Given the description of an element on the screen output the (x, y) to click on. 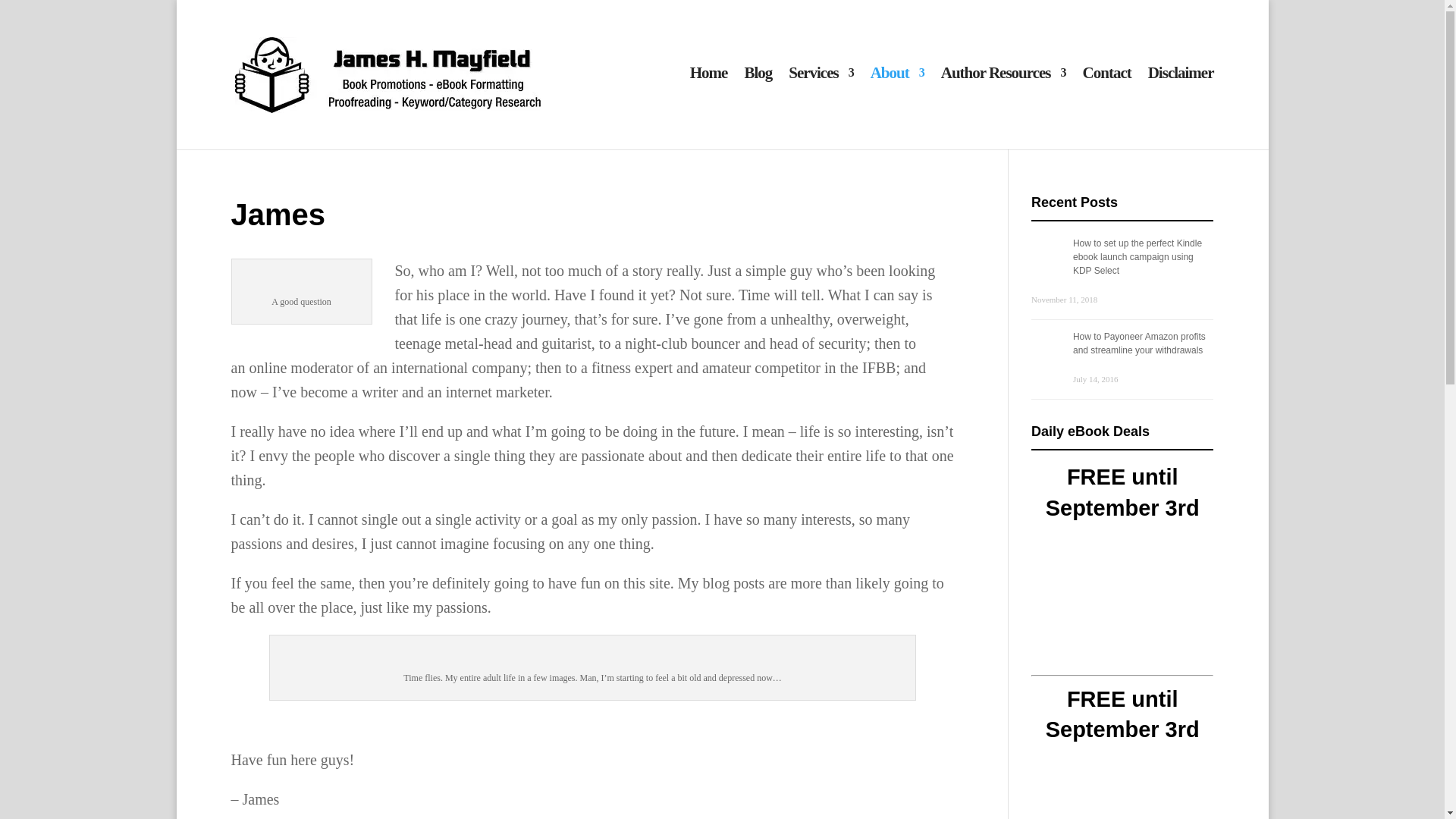
Author Resources (1002, 106)
